Given the description of an element on the screen output the (x, y) to click on. 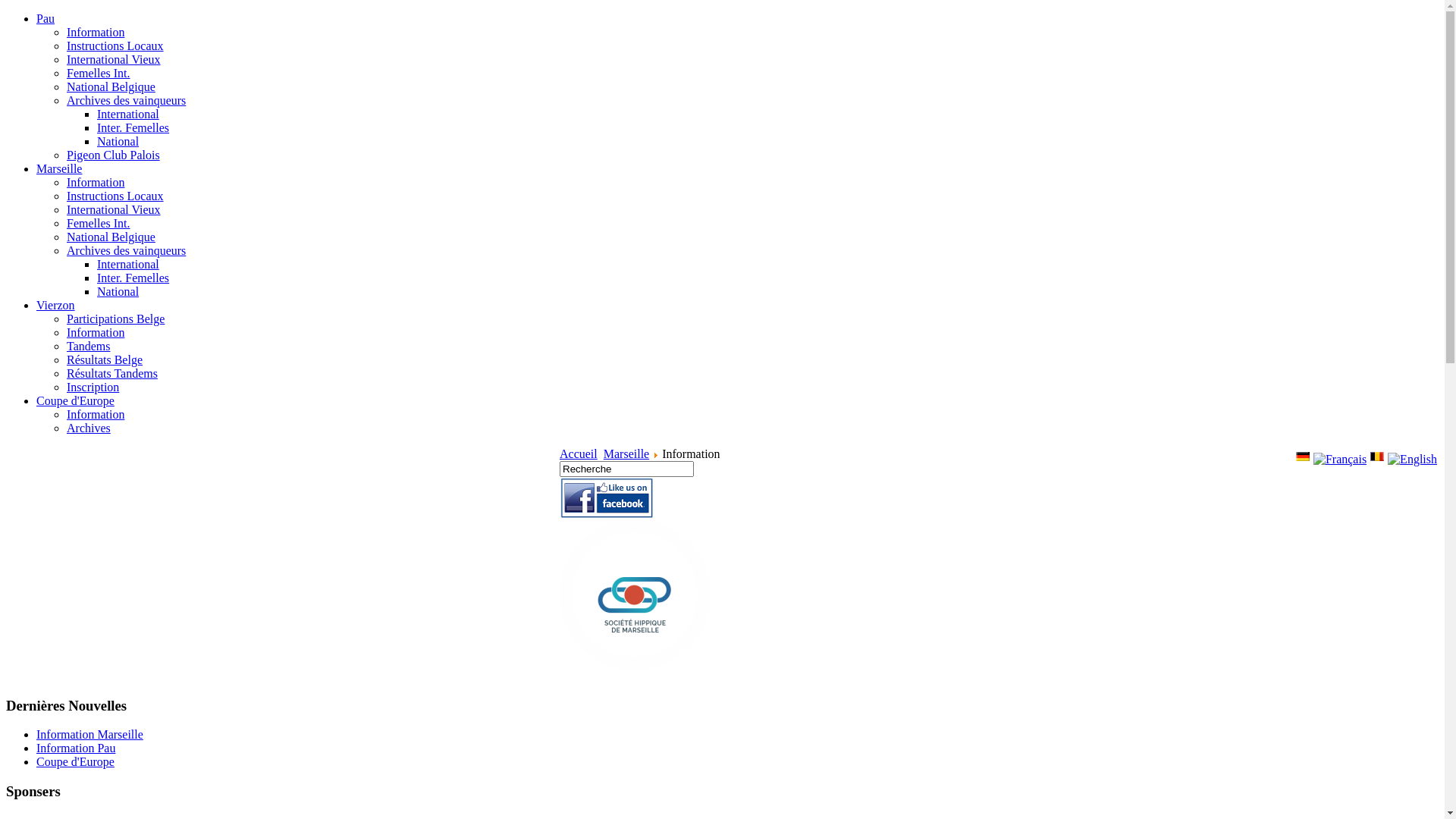
National Element type: text (117, 140)
International Vieux Element type: text (113, 209)
Pigeon Club Palois Element type: text (113, 154)
Information Element type: text (95, 413)
Archives des vainqueurs Element type: text (125, 100)
Femelles Int. Element type: text (98, 222)
National Belgique Element type: text (110, 86)
English Element type: hover (1412, 459)
Deutsch Element type: hover (1302, 456)
Inter. Femelles Element type: text (133, 127)
Femelles Int. Element type: text (98, 72)
Accueil Element type: text (578, 453)
Tandems Element type: text (88, 345)
Information Pau Element type: text (75, 747)
Inscription Element type: text (92, 386)
Archives des vainqueurs Element type: text (125, 250)
Vierzon Element type: text (55, 304)
National Element type: text (117, 291)
Marseille Element type: text (626, 453)
Participations Belge Element type: text (115, 318)
International Vieux Element type: text (113, 59)
Pau Element type: text (45, 18)
Information Marseille Element type: text (89, 734)
International Element type: text (128, 263)
Instructions Locaux Element type: text (114, 45)
Marseille Element type: text (58, 168)
Instructions Locaux Element type: text (114, 195)
National Belgique Element type: text (110, 236)
Information Element type: text (95, 31)
Information Element type: text (95, 332)
Nederlands Element type: hover (1376, 456)
International Element type: text (128, 113)
Coupe d'Europe Element type: text (75, 761)
Archives Element type: text (88, 427)
Information Element type: text (95, 181)
Inter. Femelles Element type: text (133, 277)
Coupe d'Europe Element type: text (75, 400)
